Given the description of an element on the screen output the (x, y) to click on. 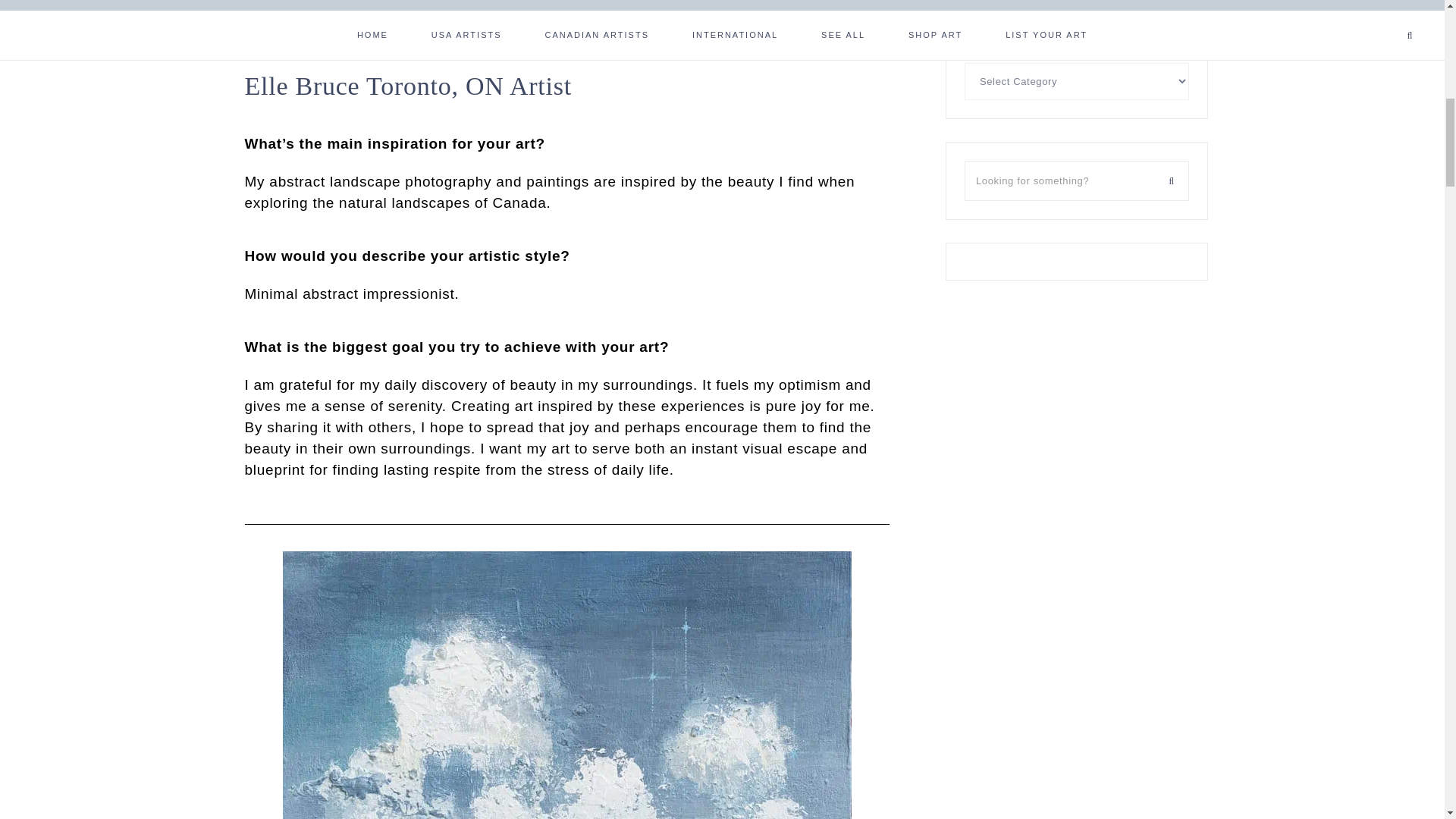
VIEW ART HERE (567, 8)
